Given the description of an element on the screen output the (x, y) to click on. 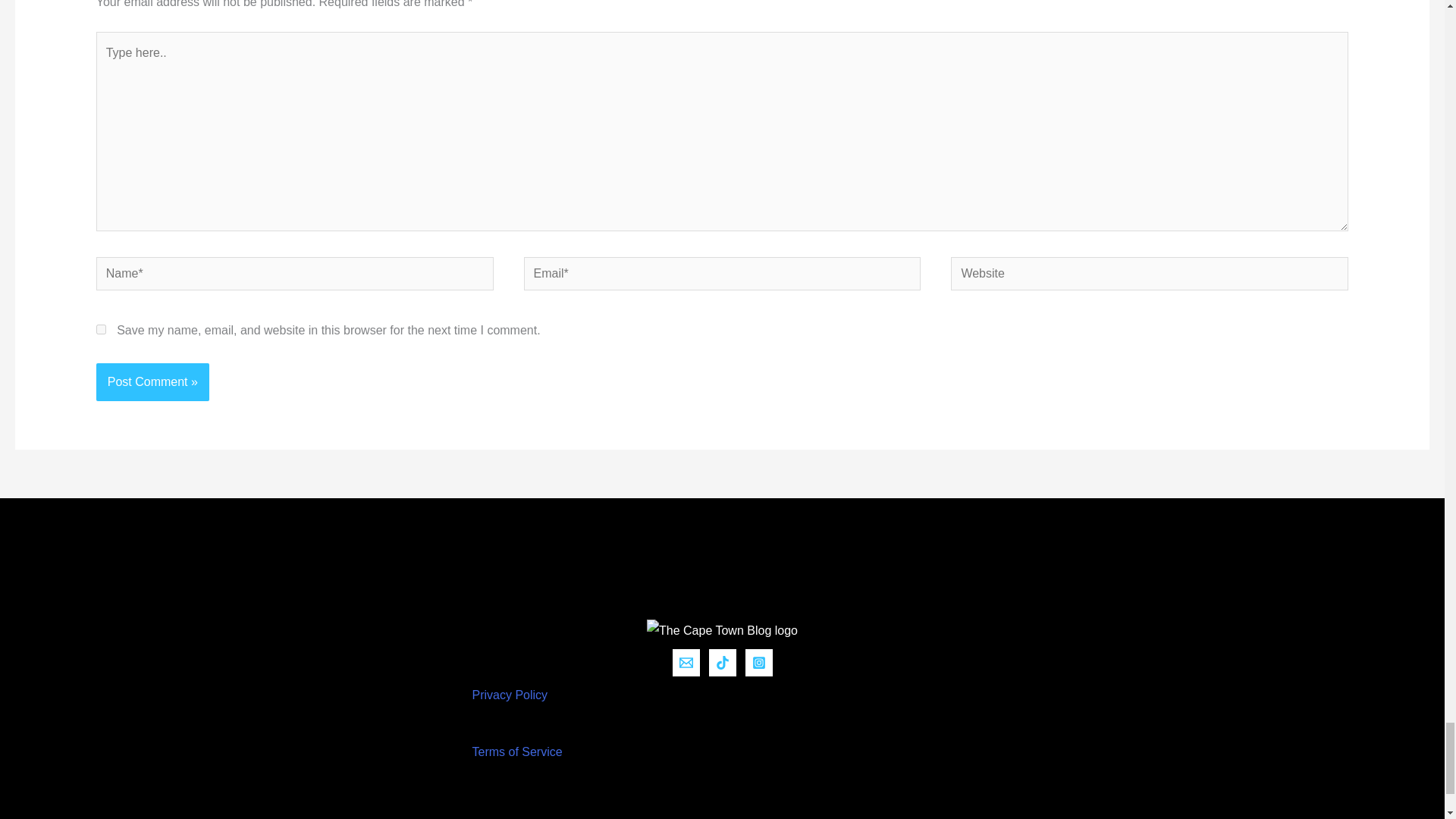
yes (101, 329)
